Given the description of an element on the screen output the (x, y) to click on. 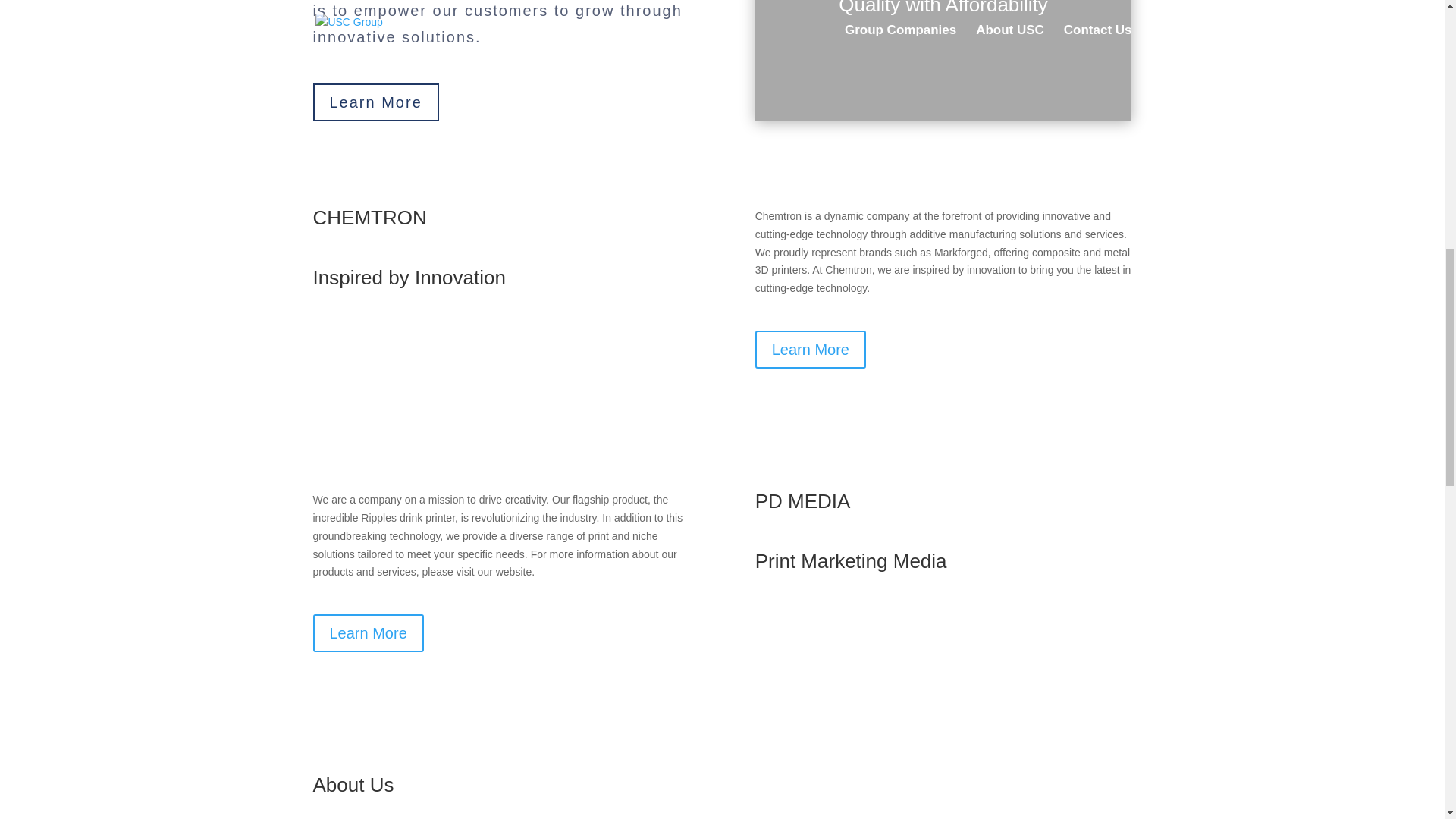
Learn More (368, 632)
Learn More (375, 102)
Learn More (810, 349)
